Given the description of an element on the screen output the (x, y) to click on. 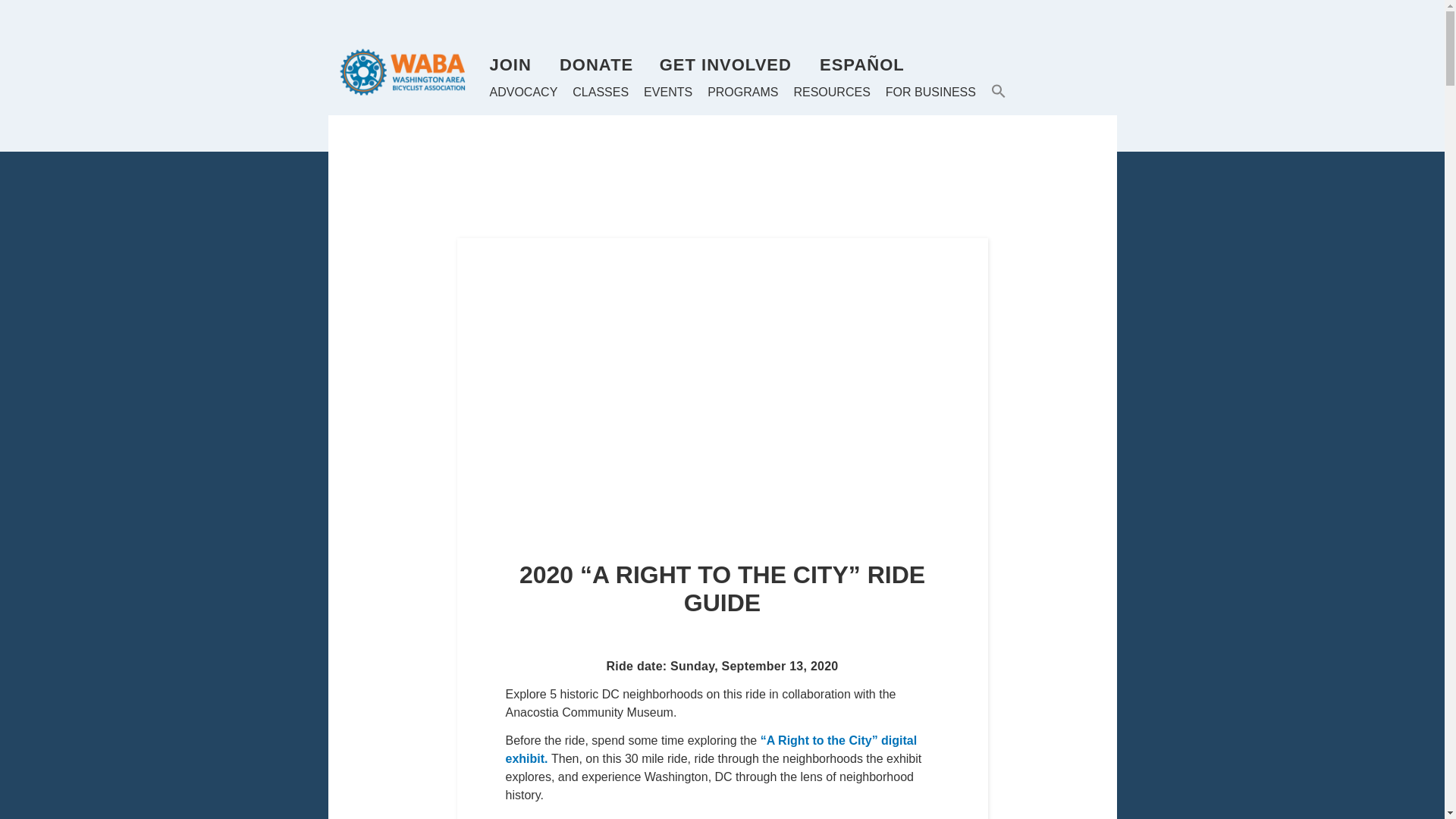
ADVOCACY (523, 92)
EVENTS (668, 92)
WABA Homepage (408, 71)
JOIN (510, 64)
GET INVOLVED (725, 64)
PROGRAMS (742, 92)
DONATE (596, 64)
CLASSES (600, 92)
RESOURCES (831, 92)
